Given the description of an element on the screen output the (x, y) to click on. 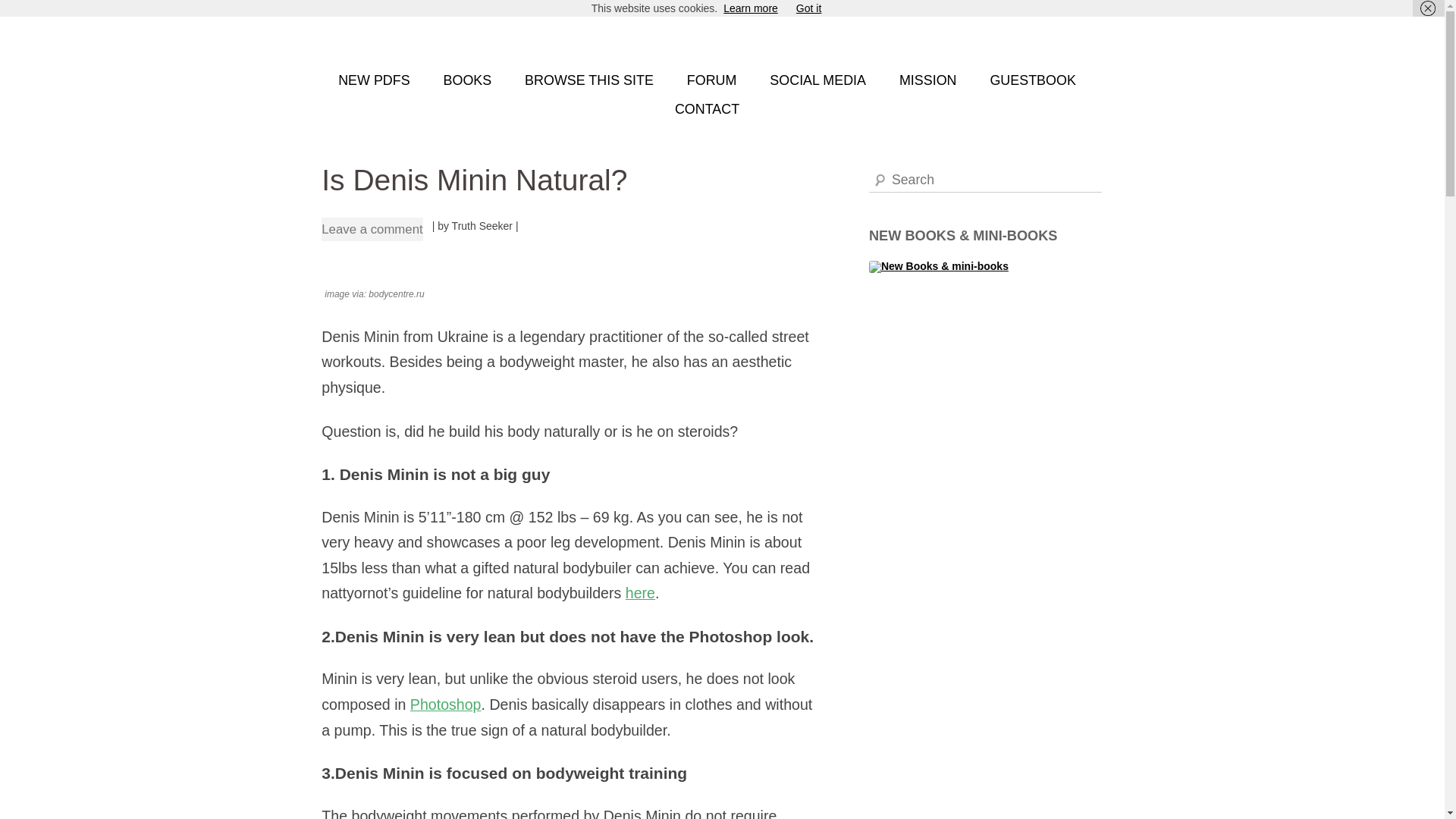
NEW PDFS (373, 80)
Search for: (985, 180)
BOOKS (468, 80)
Learn more (750, 8)
Photoshop (445, 704)
Got it (808, 8)
here (640, 592)
CONTACT (707, 109)
GUESTBOOK (1032, 80)
BROWSE THIS SITE (588, 80)
SOCIAL MEDIA (818, 80)
FORUM (711, 80)
NattyOrNot.com (396, 36)
